Given the description of an element on the screen output the (x, y) to click on. 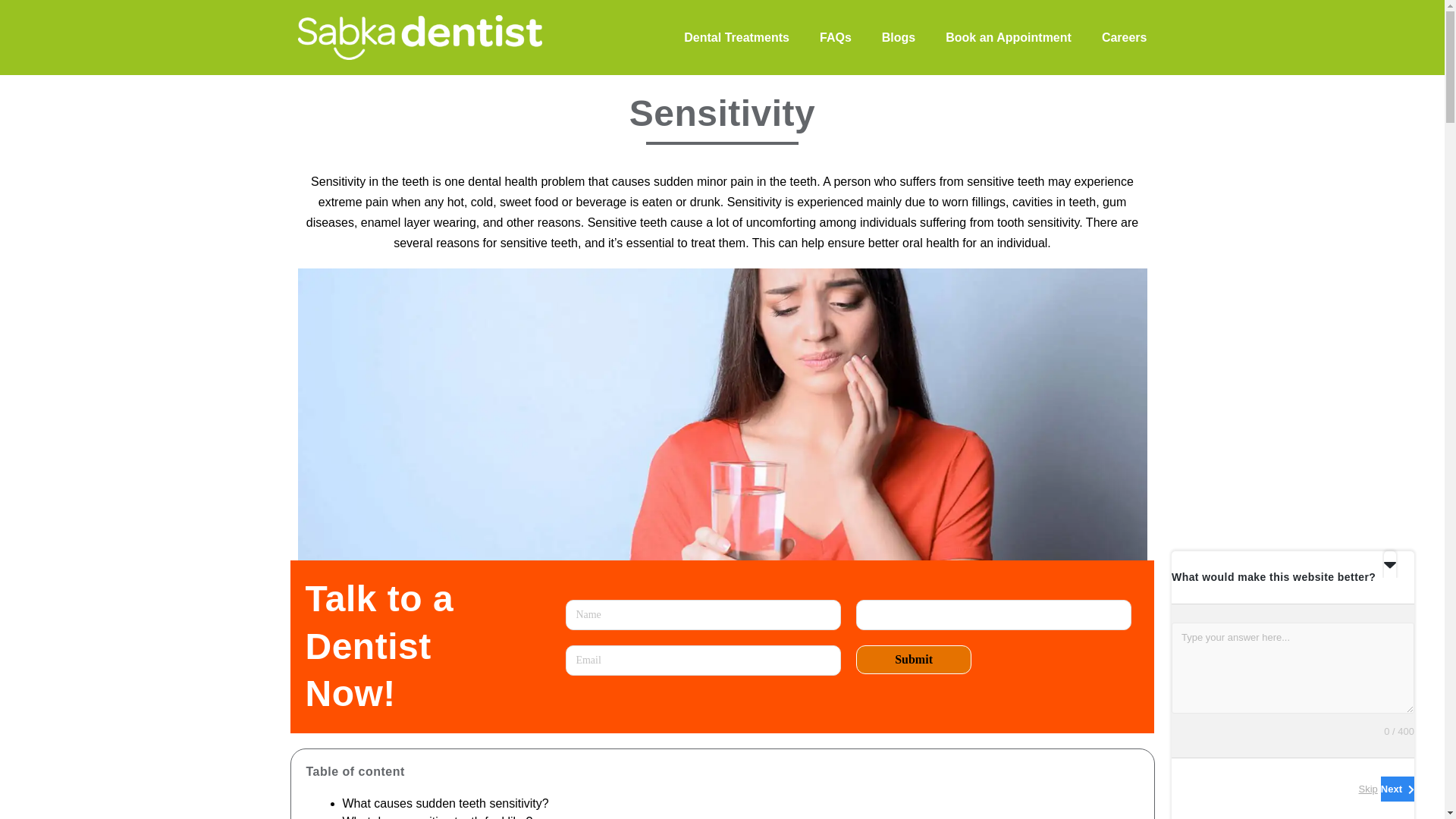
FAQs (835, 37)
sabkadentist-logo-white (419, 36)
Dental Treatments (736, 37)
Blogs (898, 37)
Book an Appointment (1007, 37)
Name (703, 614)
What does sensitive teeth feel like? (437, 816)
Submit (913, 659)
Email (703, 660)
Careers (1124, 37)
What causes sudden teeth sensitivity? (445, 802)
